Given the description of an element on the screen output the (x, y) to click on. 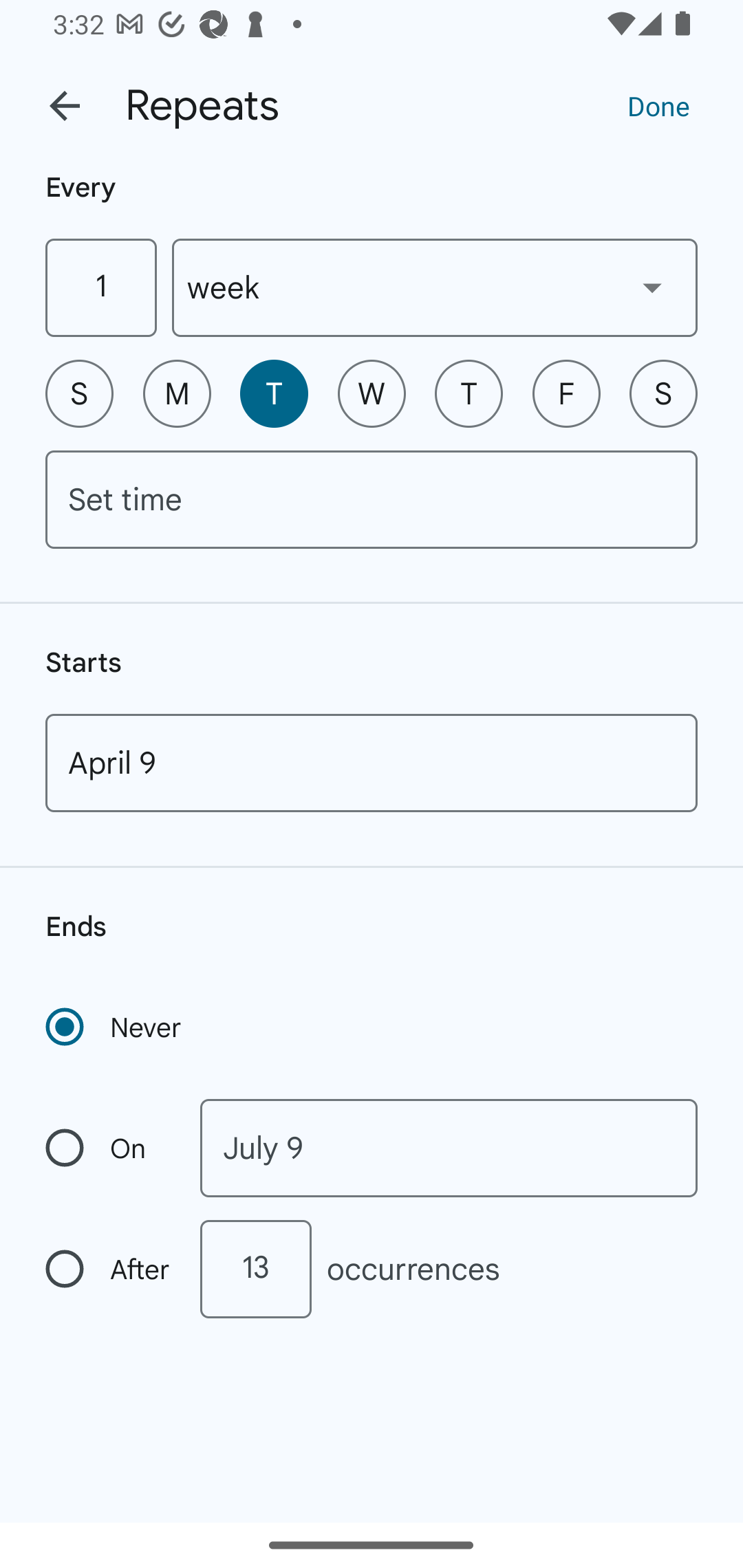
Back (64, 105)
Done (658, 105)
1 (100, 287)
week (434, 287)
Show dropdown menu (652, 286)
S Sunday (79, 393)
M Monday (177, 393)
T Tuesday, selected (273, 393)
W Wednesday (371, 393)
T Thursday (468, 393)
F Friday (566, 393)
S Saturday (663, 393)
Set time (371, 499)
April 9 (371, 762)
Never Recurrence never ends (115, 1026)
July 9 (448, 1148)
On Recurrence ends on a specific date (109, 1148)
13 (255, 1268)
